Given the description of an element on the screen output the (x, y) to click on. 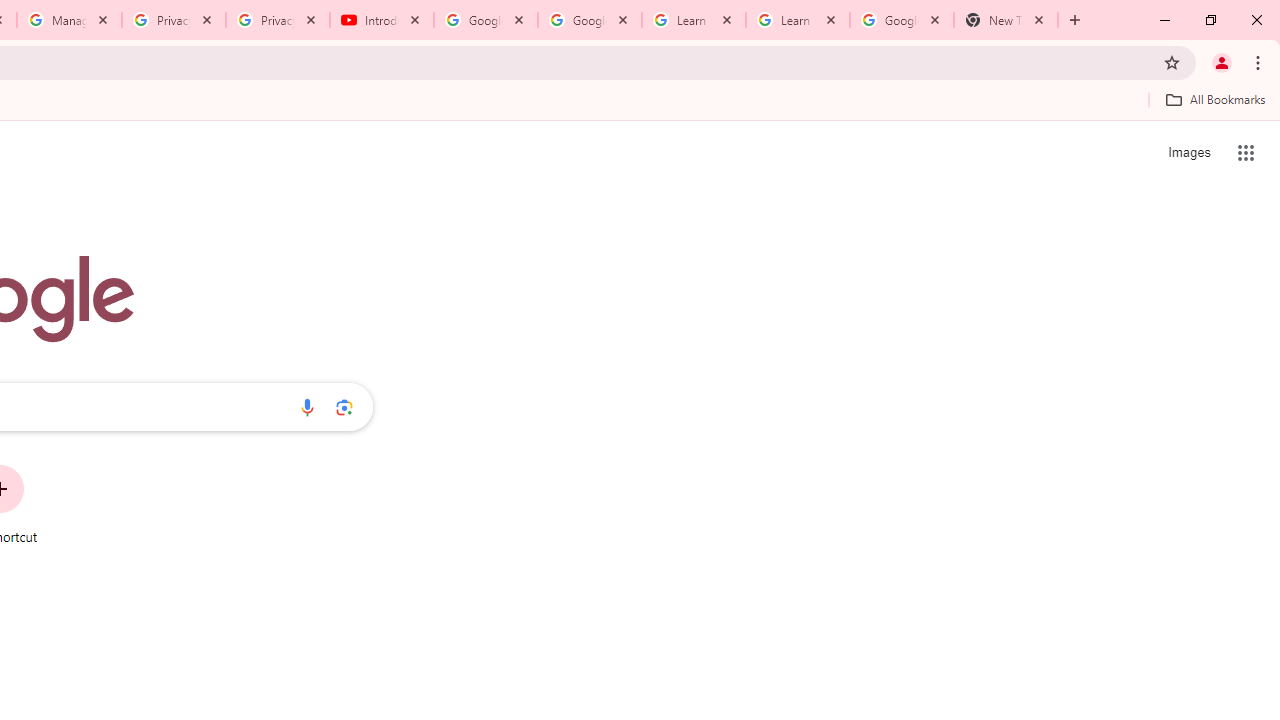
Introduction | Google Privacy Policy - YouTube (381, 20)
New Tab (1005, 20)
